Given the description of an element on the screen output the (x, y) to click on. 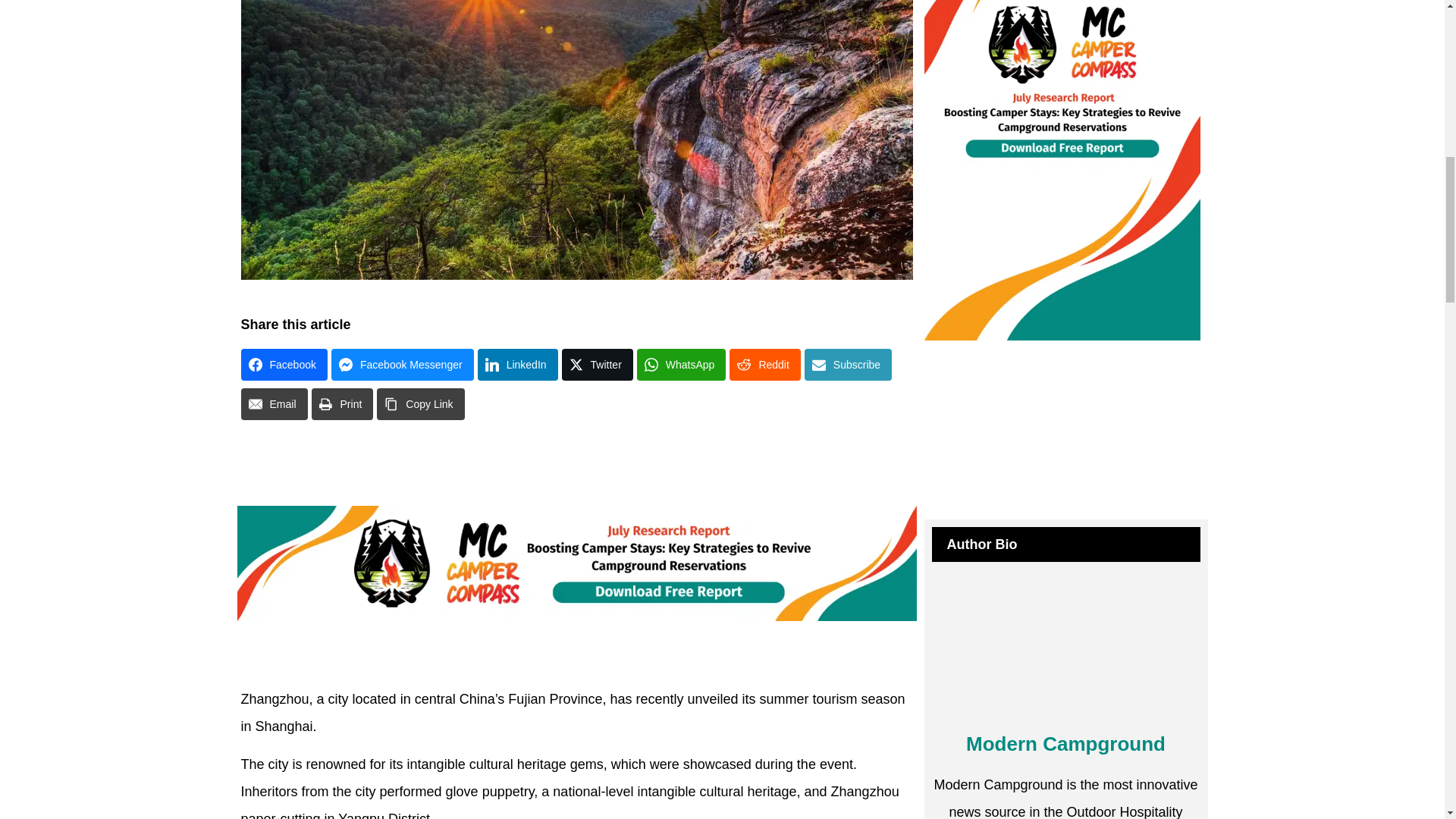
Share on Reddit (764, 364)
Share on Print (342, 404)
Share on Facebook Messenger (402, 364)
Share on Facebook (284, 364)
Share on Copy Link (420, 404)
Share on Email (274, 404)
Share on Twitter (597, 364)
Share on WhatsApp (681, 364)
Share on LinkedIn (517, 364)
Share on Subscribe (848, 364)
